Given the description of an element on the screen output the (x, y) to click on. 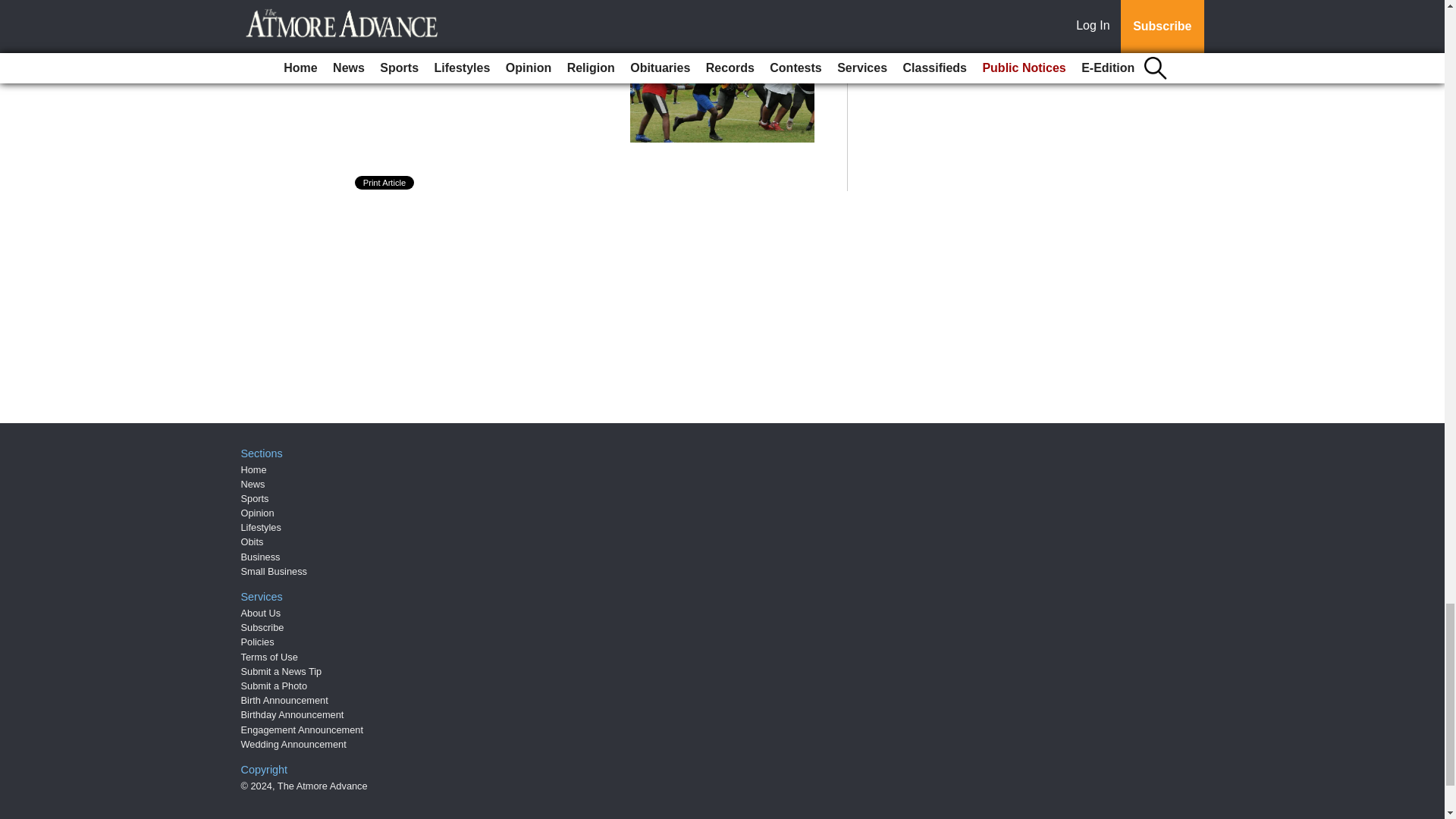
ECHS completes first week of spring practice (481, 58)
